Given the description of an element on the screen output the (x, y) to click on. 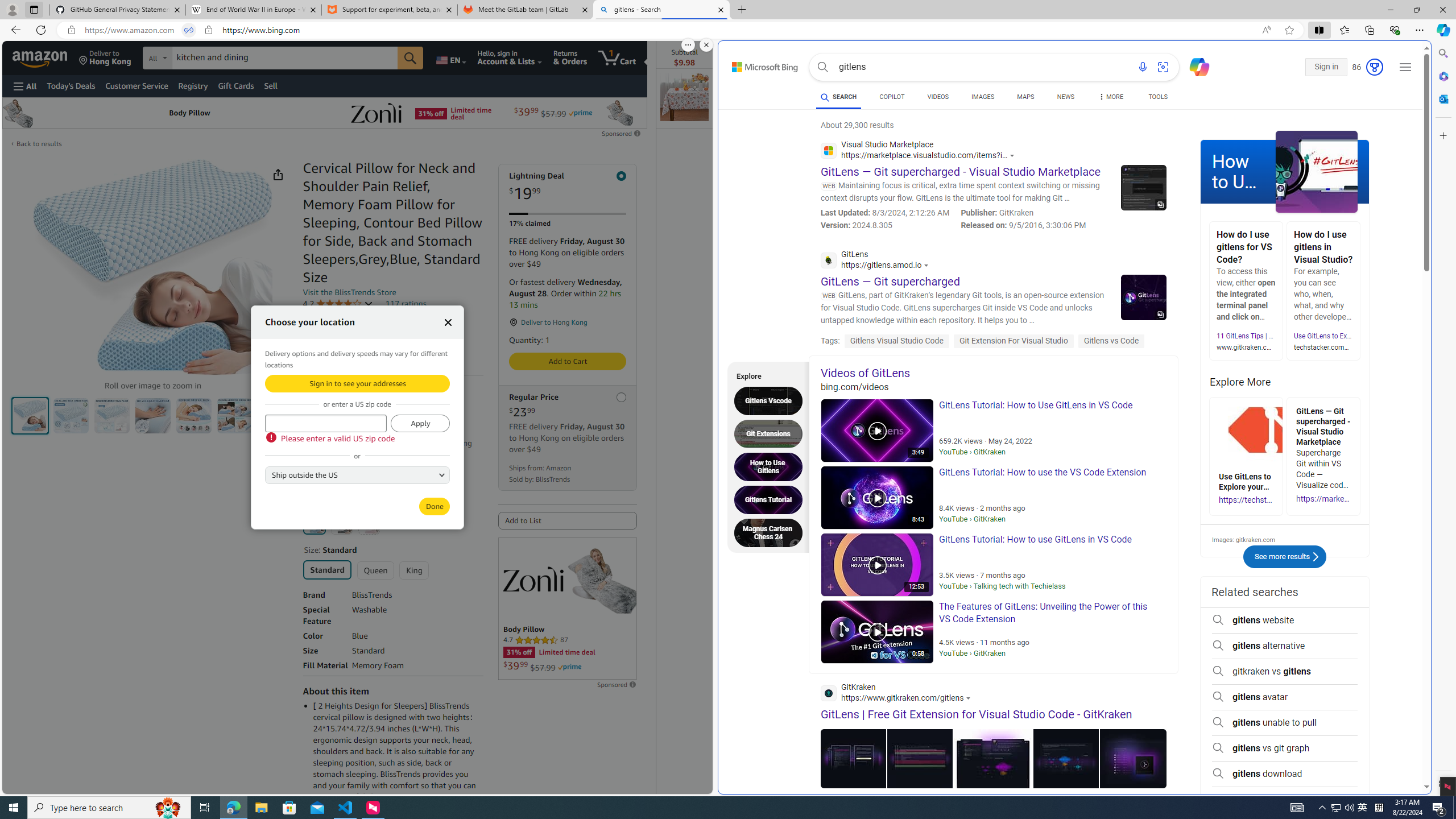
COPILOT (892, 98)
Settings and quick links (1404, 67)
TOOLS (1157, 96)
Standard (327, 569)
Amazon (40, 57)
Registry (192, 85)
Lightning Deal $19.99 (567, 186)
Prime (569, 666)
